Given the description of an element on the screen output the (x, y) to click on. 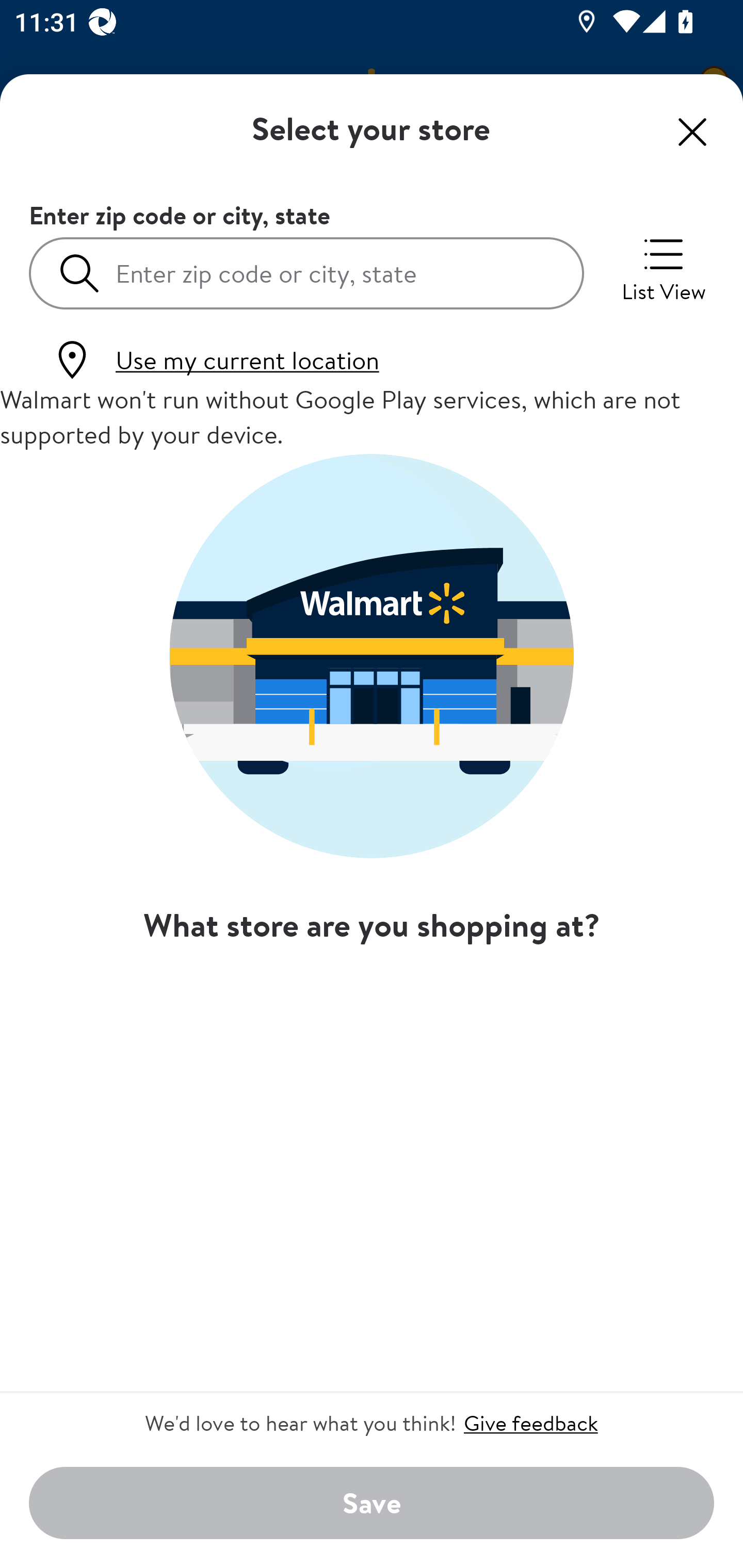
Close (692, 131)
List View Switch to list view (663, 268)
Enter zip code or city, state (305, 272)
Use my current location (214, 359)
Give feedback (530, 1422)
Save (371, 1503)
